Given the description of an element on the screen output the (x, y) to click on. 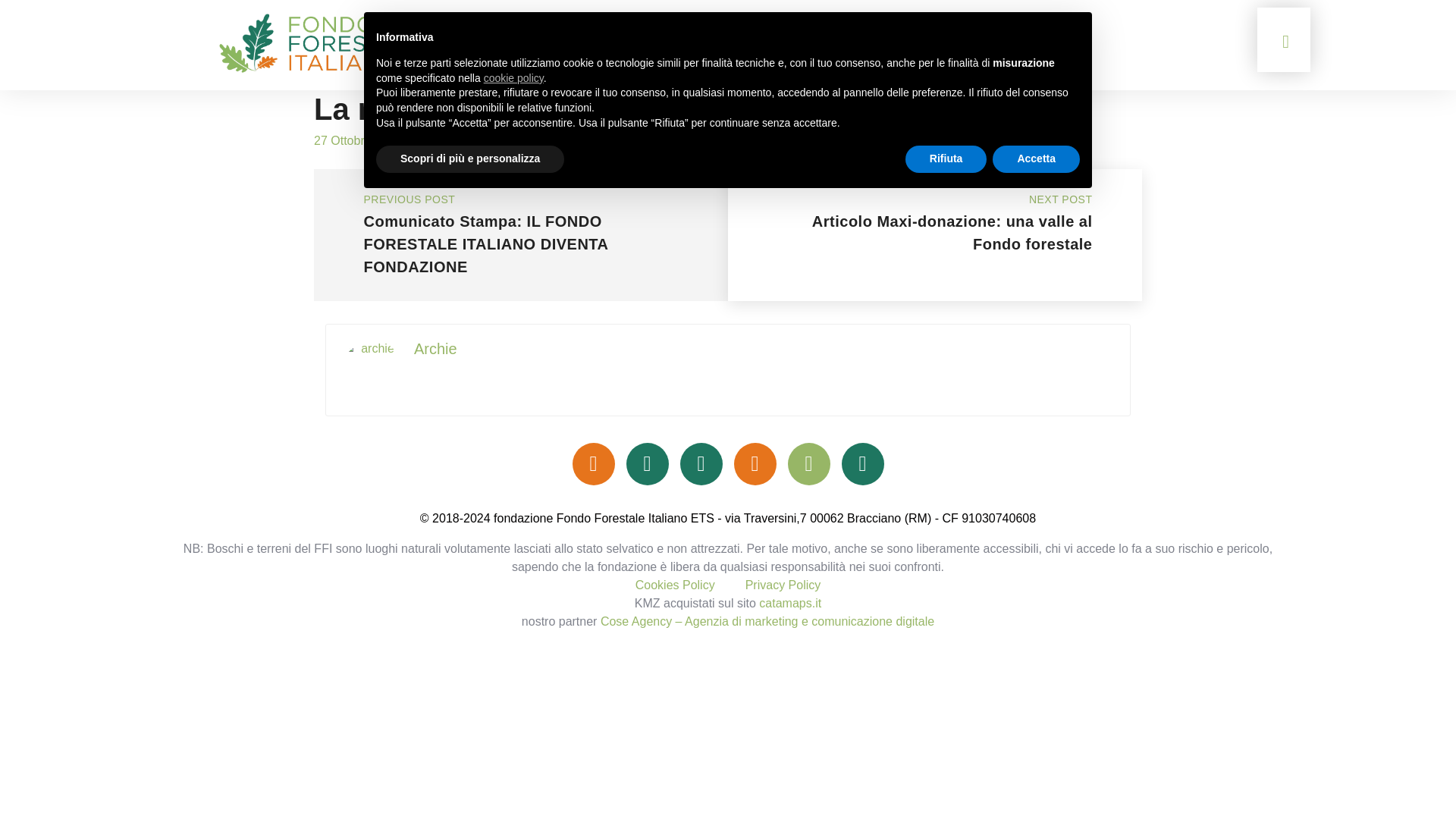
Privacy Policy (783, 584)
Accetta (1036, 158)
Cookies Policy (674, 584)
Rifiuta (946, 158)
27 Ottobre 2023 (357, 140)
catamaps.it (789, 603)
Archie (451, 140)
cookie policy (513, 78)
Archie (435, 348)
